Given the description of an element on the screen output the (x, y) to click on. 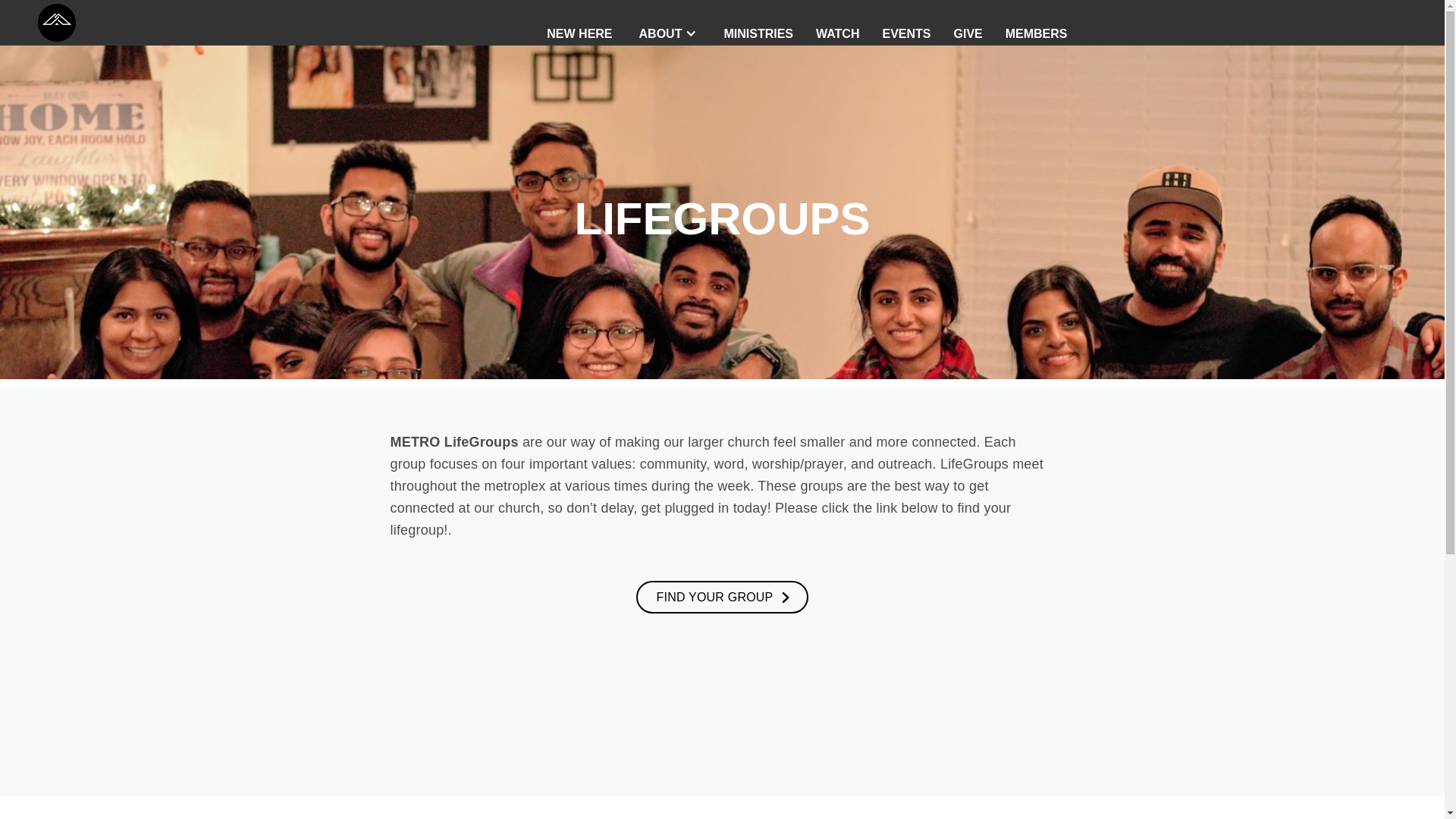
NEW HERE (579, 20)
WATCH (837, 20)
EVENTS (906, 20)
MINISTRIES (758, 20)
FIND YOUR GROUP (722, 596)
MEMBERS (1036, 20)
GIVE (967, 20)
